Given the description of an element on the screen output the (x, y) to click on. 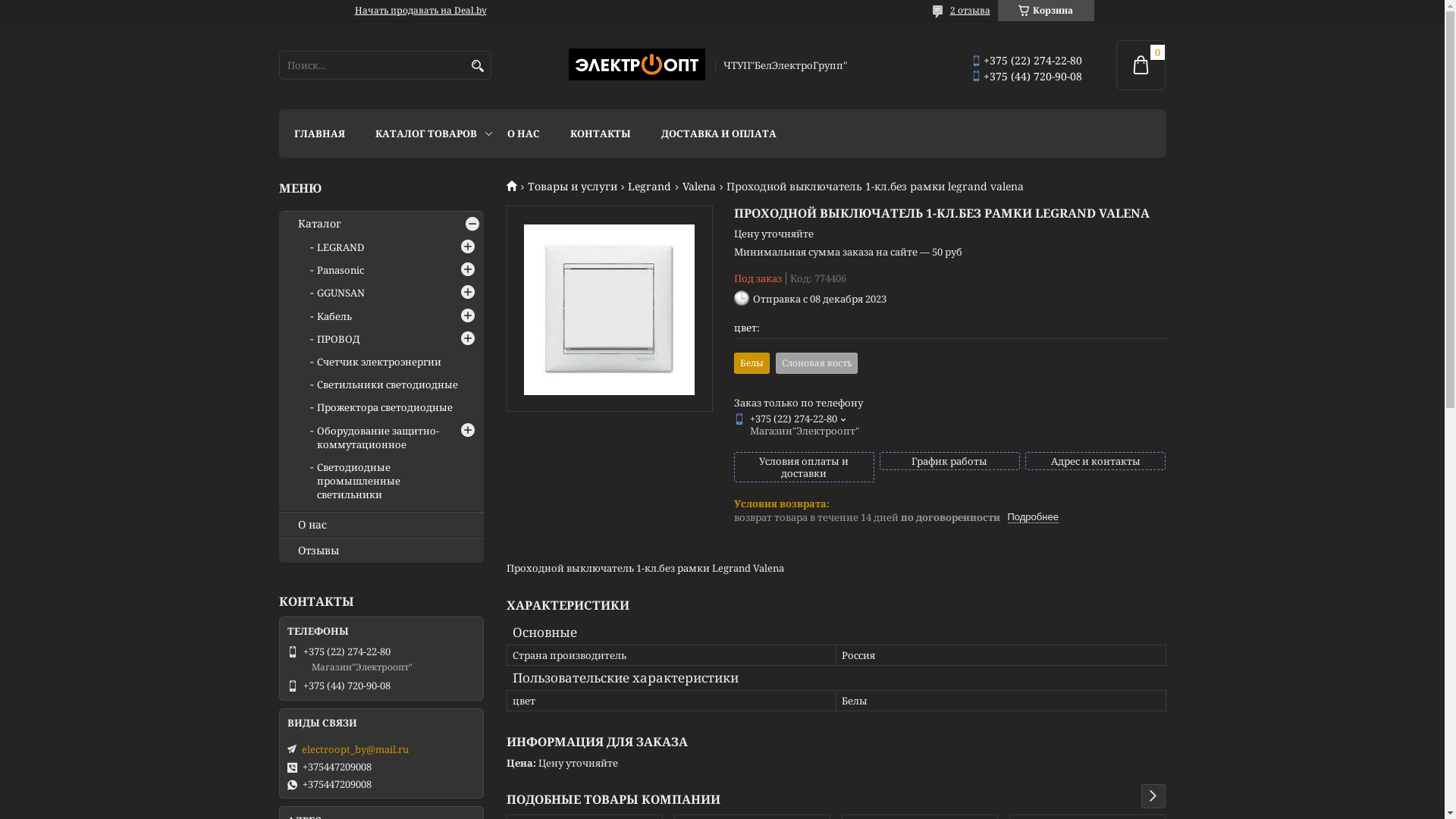
Panasonic Element type: text (340, 269)
electroopt_by@mail.ru Element type: text (354, 749)
Valena Element type: text (698, 186)
LEGRAND Element type: text (340, 247)
GGUNSAN Element type: text (340, 292)
Legrand Element type: text (649, 186)
